Given the description of an element on the screen output the (x, y) to click on. 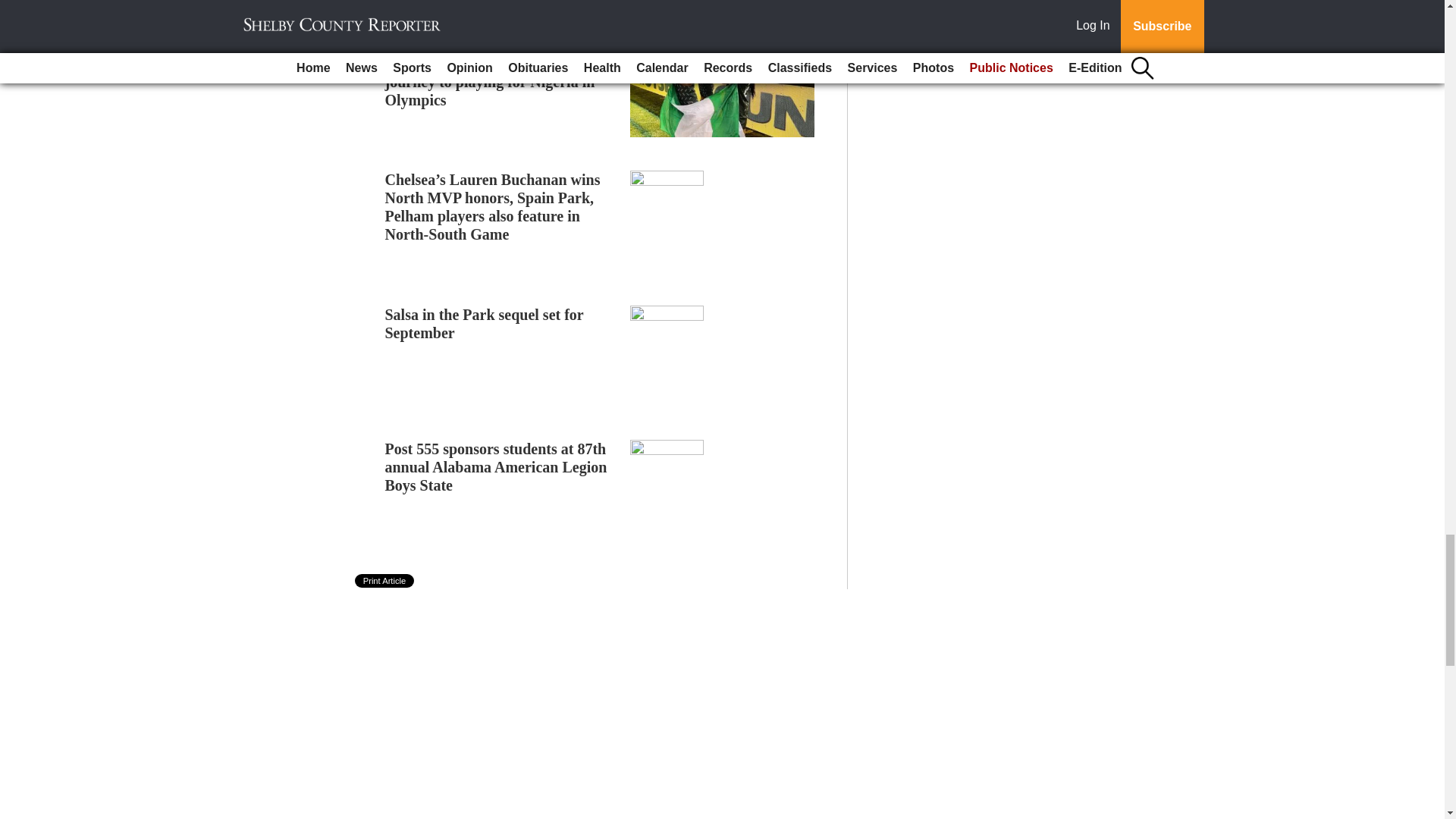
Salsa in the Park sequel set for September (484, 323)
